Given the description of an element on the screen output the (x, y) to click on. 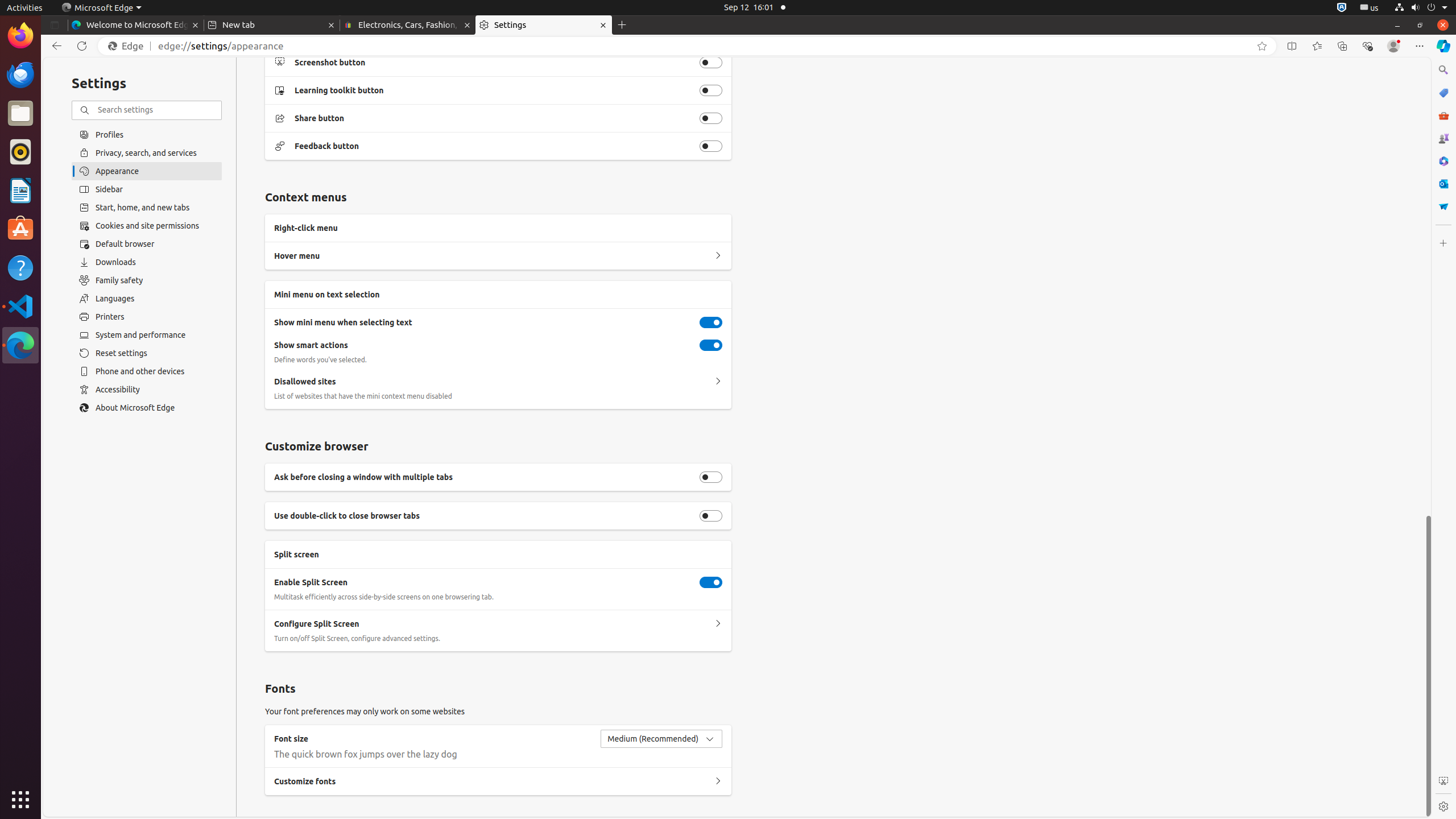
:1.72/StatusNotifierItem Element type: menu (1341, 7)
Show Applications Element type: toggle-button (20, 799)
:1.21/StatusNotifierItem Element type: menu (1369, 7)
Sidebar Element type: tree-item (146, 189)
Copilot (Ctrl+Shift+.) Element type: push-button (1443, 45)
